Given the description of an element on the screen output the (x, y) to click on. 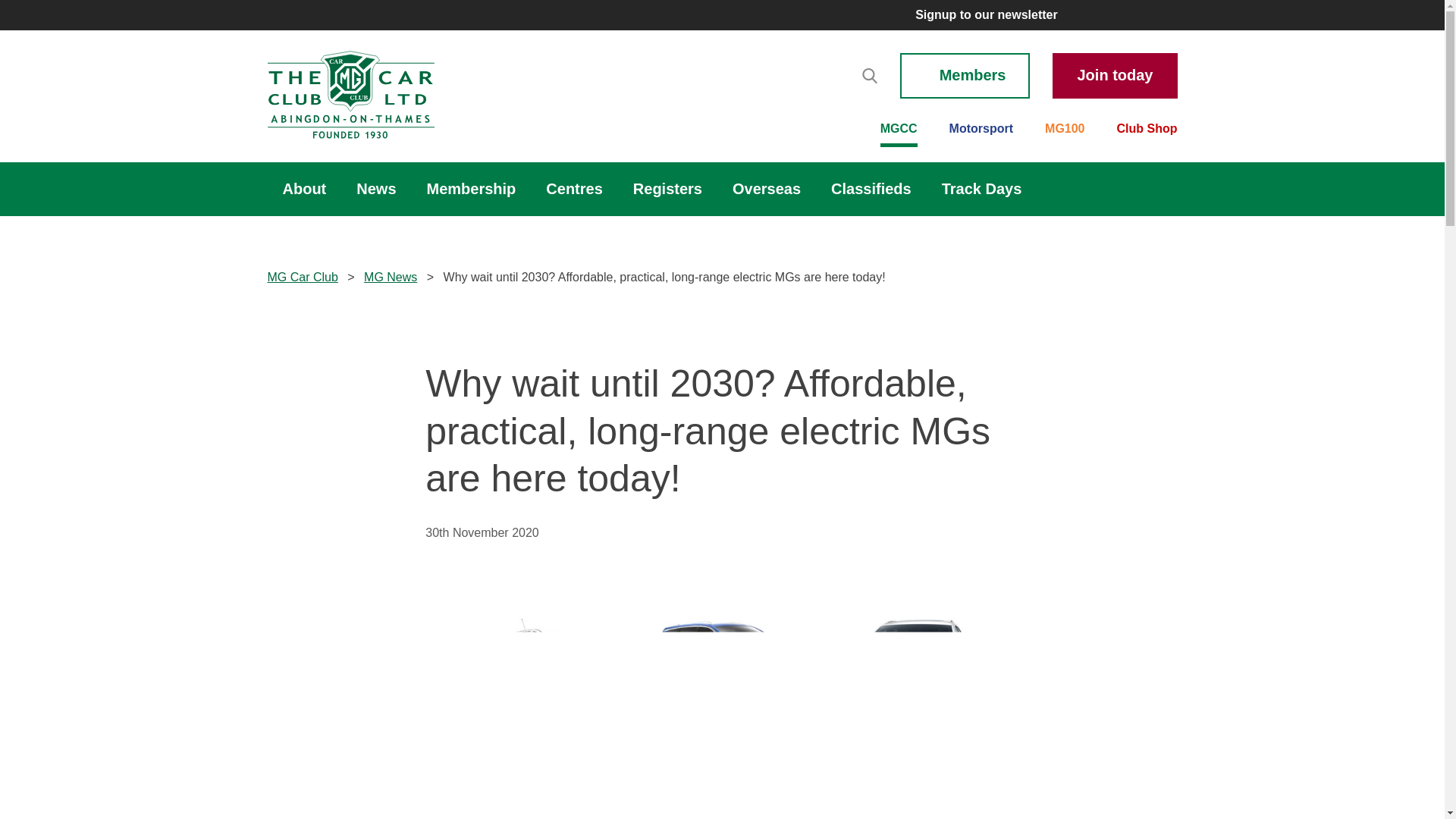
News (375, 189)
MG Car Club on Instagram (1139, 14)
MG Car Club on Facebook (1110, 14)
Membership (471, 189)
Centres (574, 189)
Go to MG Car Club. (301, 277)
Go to the MG News category archives. (390, 277)
Members (964, 75)
About (303, 189)
MG Car Club on Twitter (1079, 14)
